Given the description of an element on the screen output the (x, y) to click on. 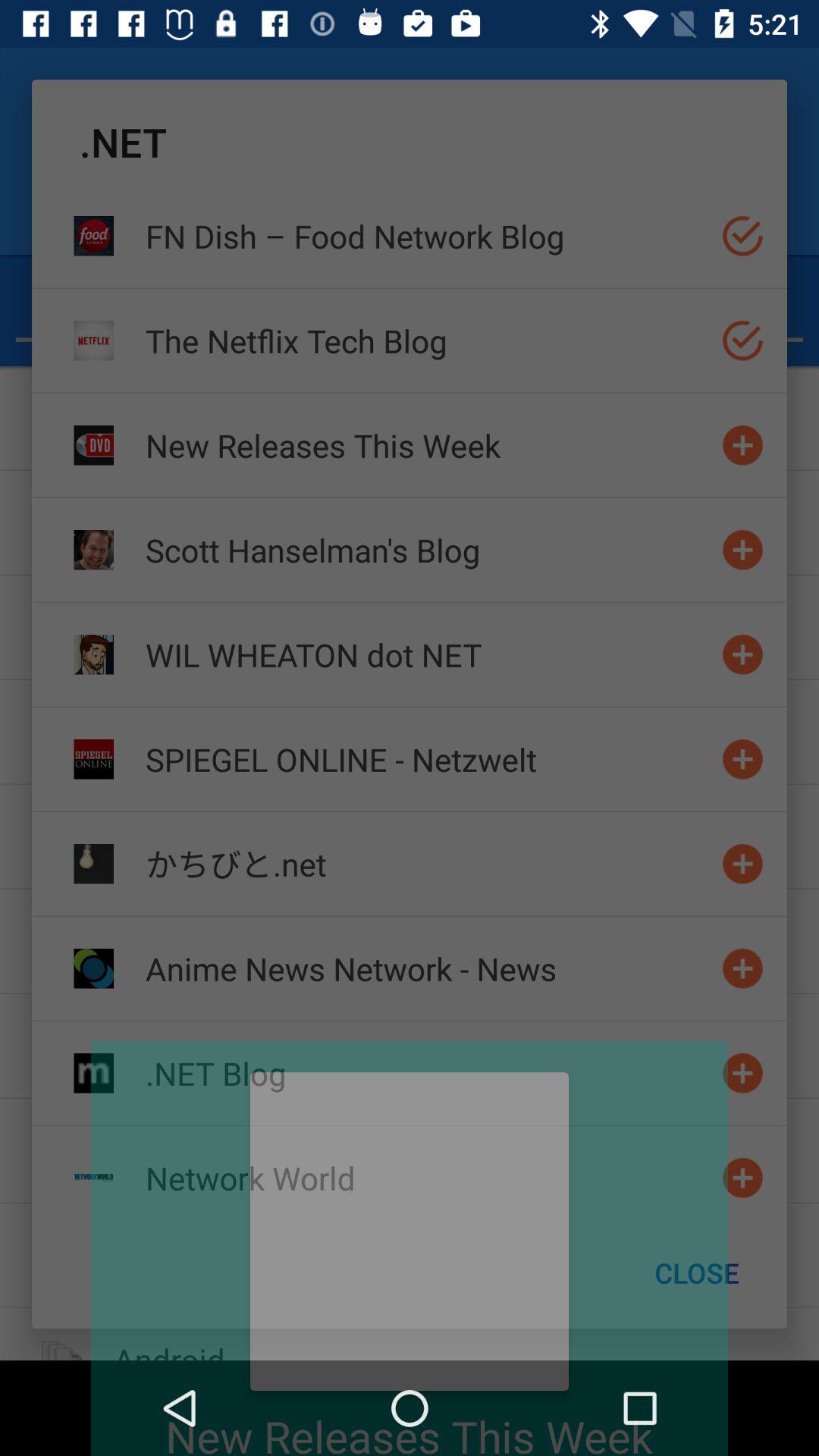
launch item above the close (426, 1177)
